Given the description of an element on the screen output the (x, y) to click on. 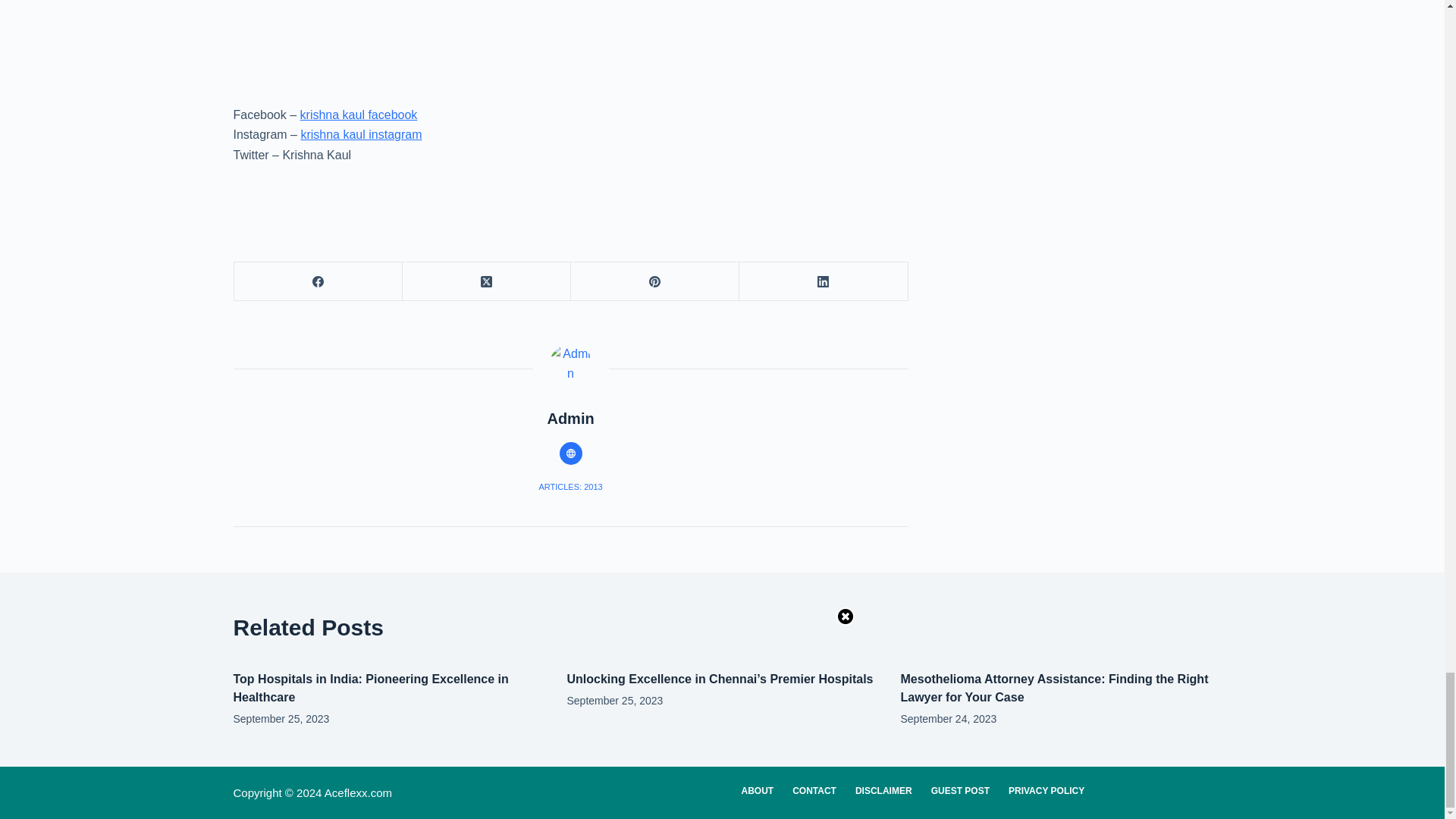
ARTICLES: 2013 (570, 486)
Top Hospitals in India: Pioneering Excellence in Healthcare (370, 687)
krishna kaul facebook (358, 114)
krishna kaul instagram (360, 133)
